Given the description of an element on the screen output the (x, y) to click on. 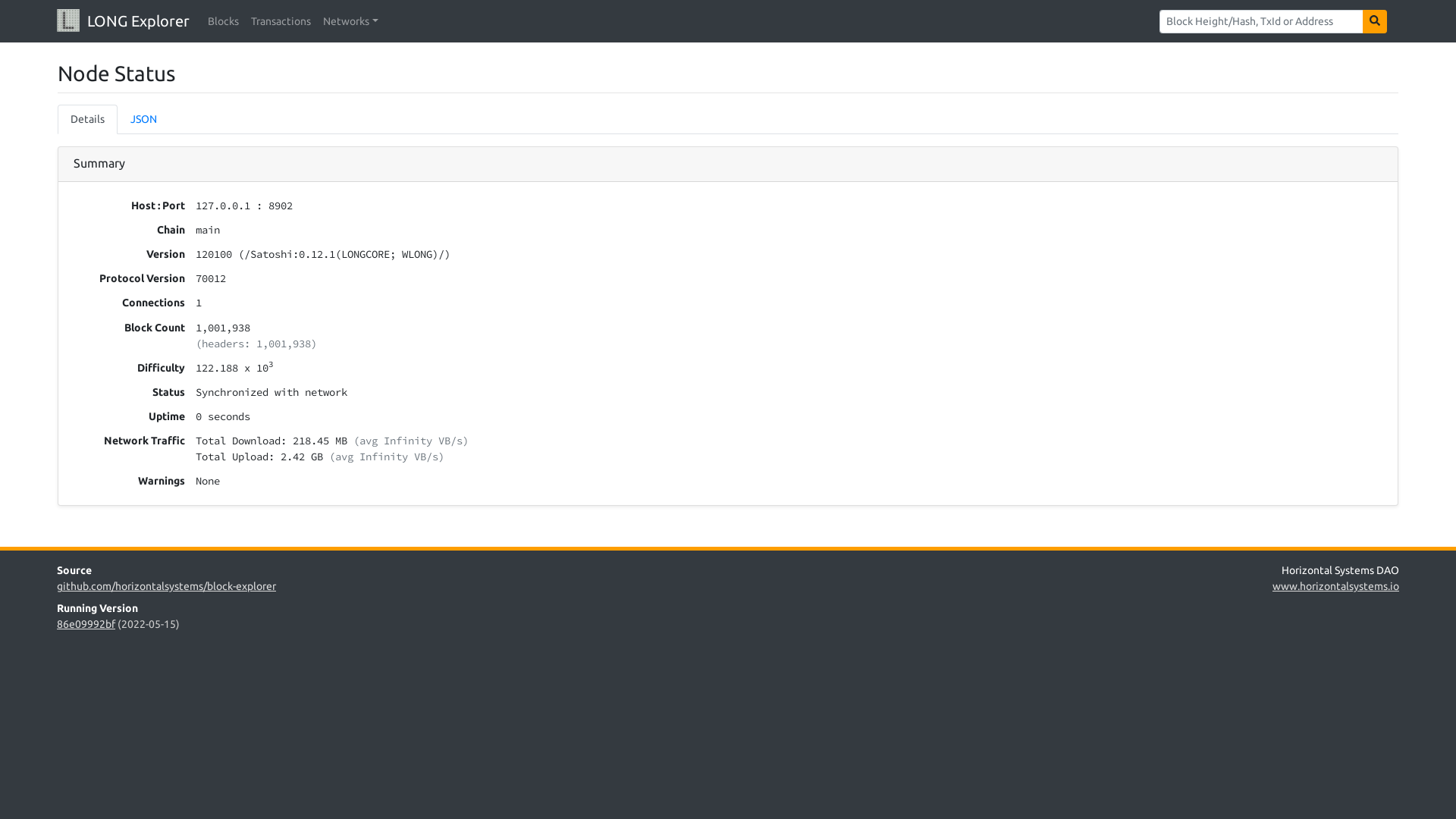
Networks Element type: text (350, 21)
86e09992bf Element type: text (85, 624)
github.com/horizontalsystems/block-explorer Element type: text (166, 586)
www.horizontalsystems.io Element type: text (1335, 586)
Details Element type: text (87, 119)
LONG Explorer Element type: text (122, 21)
Transactions Element type: text (280, 21)
JSON Element type: text (143, 119)
Blocks Element type: text (222, 21)
